Given the description of an element on the screen output the (x, y) to click on. 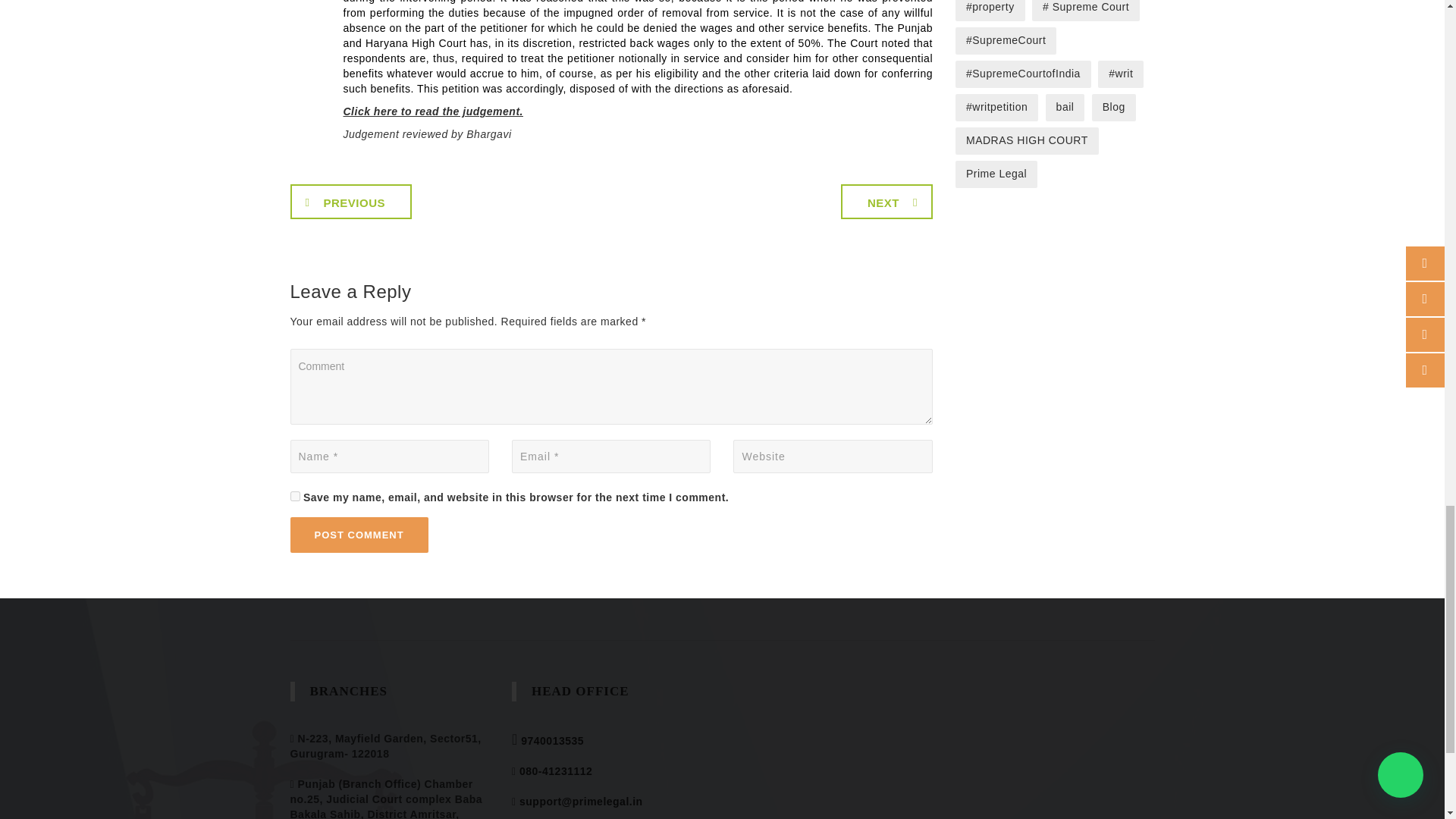
yes (294, 496)
PREVIOUS (350, 201)
Post Comment (358, 534)
NEXT (887, 201)
Post Comment (358, 534)
Click here to read the judgement. (432, 111)
